Given the description of an element on the screen output the (x, y) to click on. 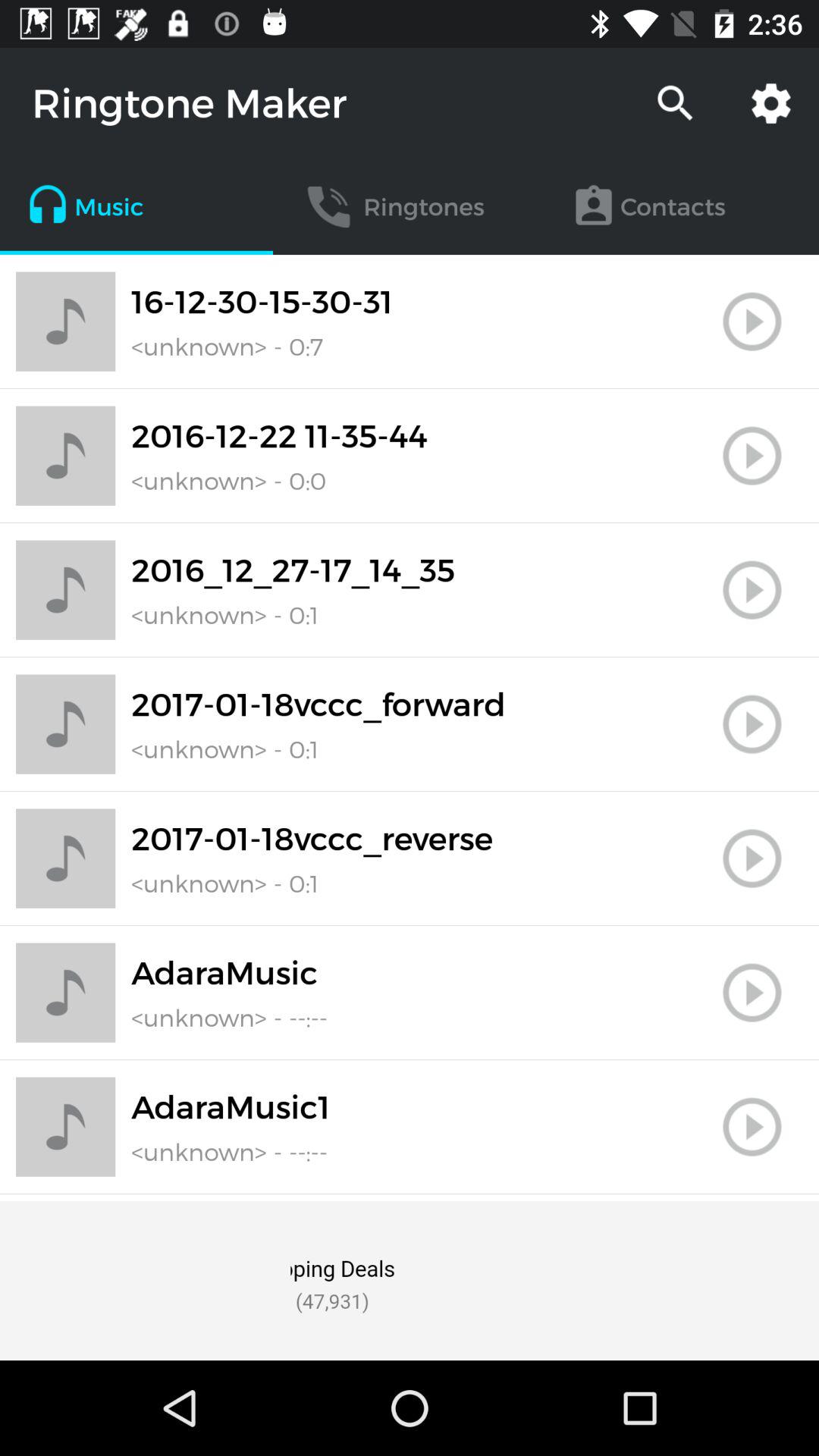
go to play (752, 858)
